Given the description of an element on the screen output the (x, y) to click on. 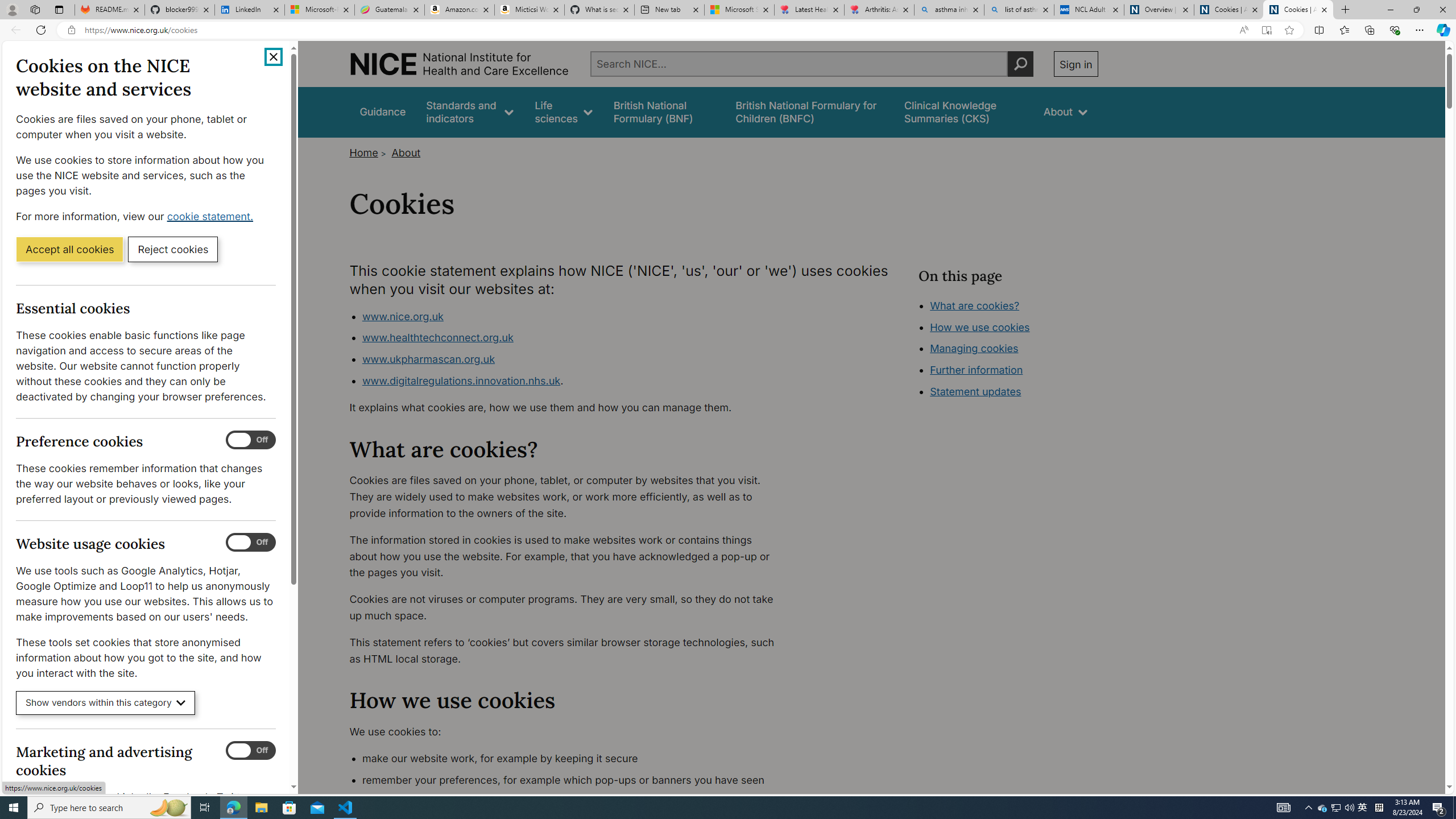
Close cookie banner (273, 56)
Arthritis: Ask Health Professionals (879, 9)
cookie statement. (Opens in a new window) (211, 215)
